Given the description of an element on the screen output the (x, y) to click on. 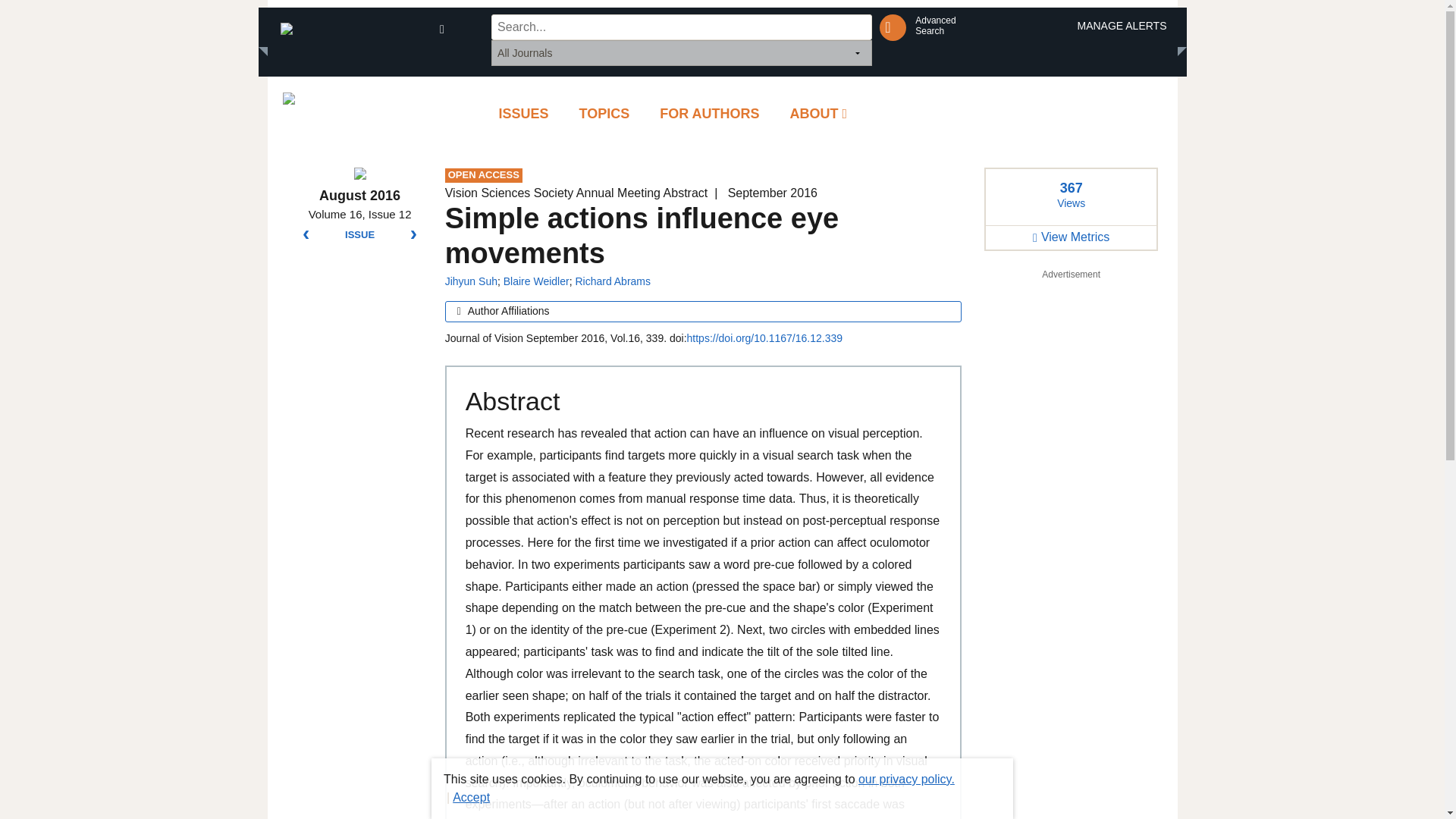
ABOUT (818, 114)
Blaire Weidler (536, 281)
Richard Abrams (935, 25)
ISSUE (612, 281)
FOR AUTHORS (359, 234)
ISSUES (709, 114)
Jihyun Suh (523, 114)
TOPICS (471, 281)
